Given the description of an element on the screen output the (x, y) to click on. 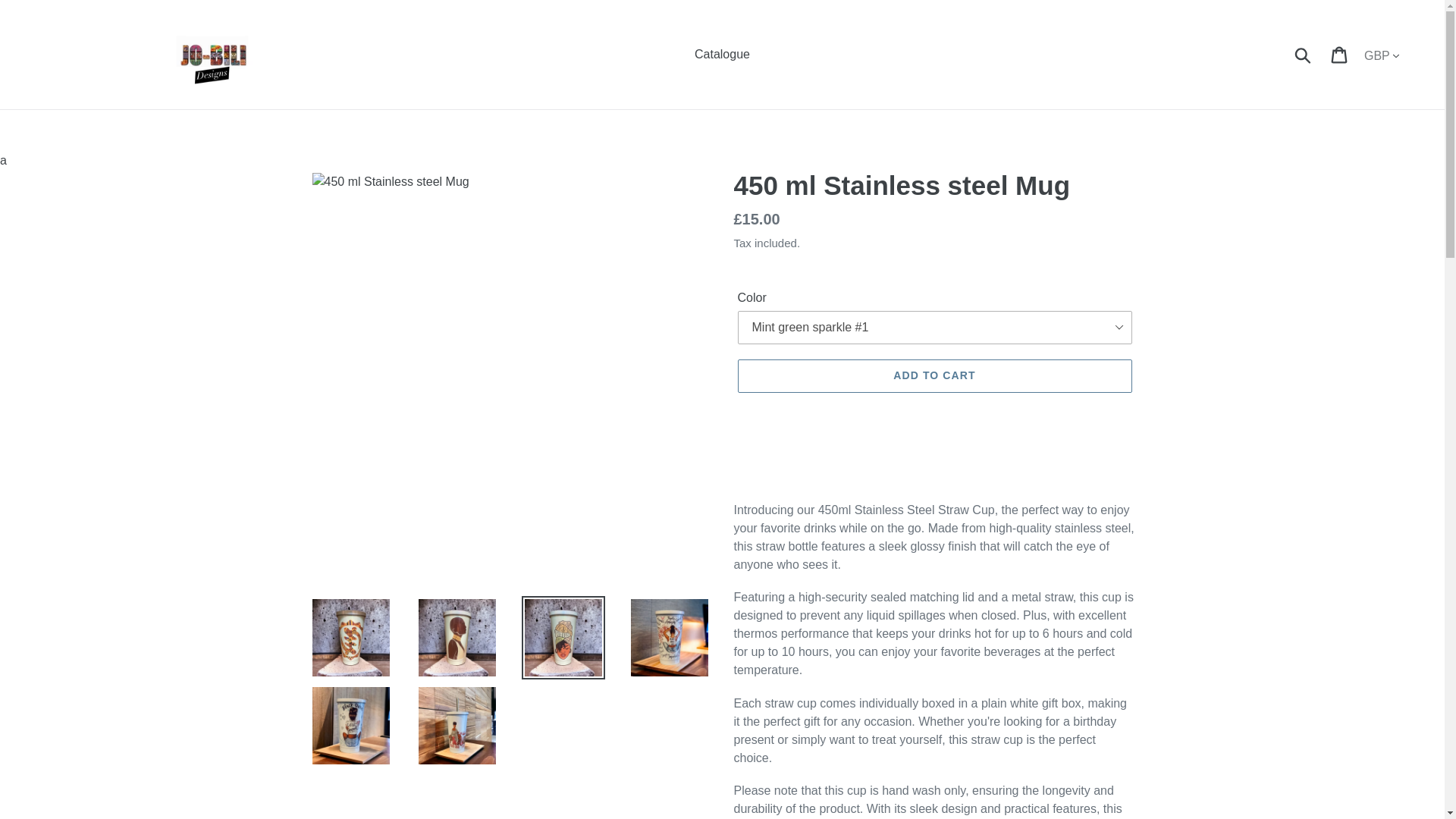
ADD TO CART (933, 376)
Submit (1303, 54)
Catalogue (722, 54)
Cart (1340, 54)
